Given the description of an element on the screen output the (x, y) to click on. 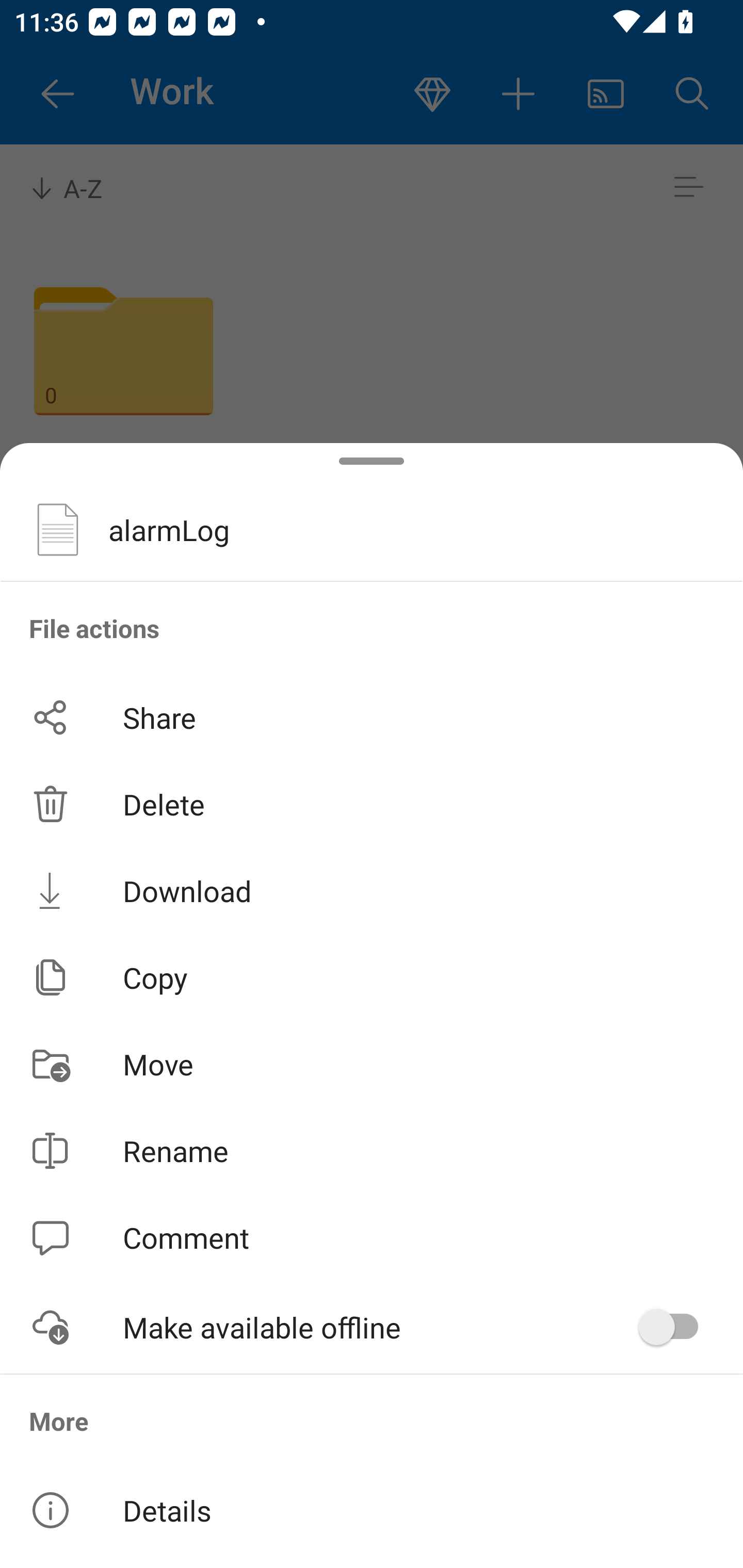
Share button Share (371, 717)
Delete button Delete (371, 803)
Download button Download (371, 890)
Copy button Copy (371, 977)
Move button Move (371, 1063)
Rename button Rename (371, 1150)
Comment button Comment (371, 1237)
Make offline operation (674, 1327)
Details button Details (371, 1510)
